Given the description of an element on the screen output the (x, y) to click on. 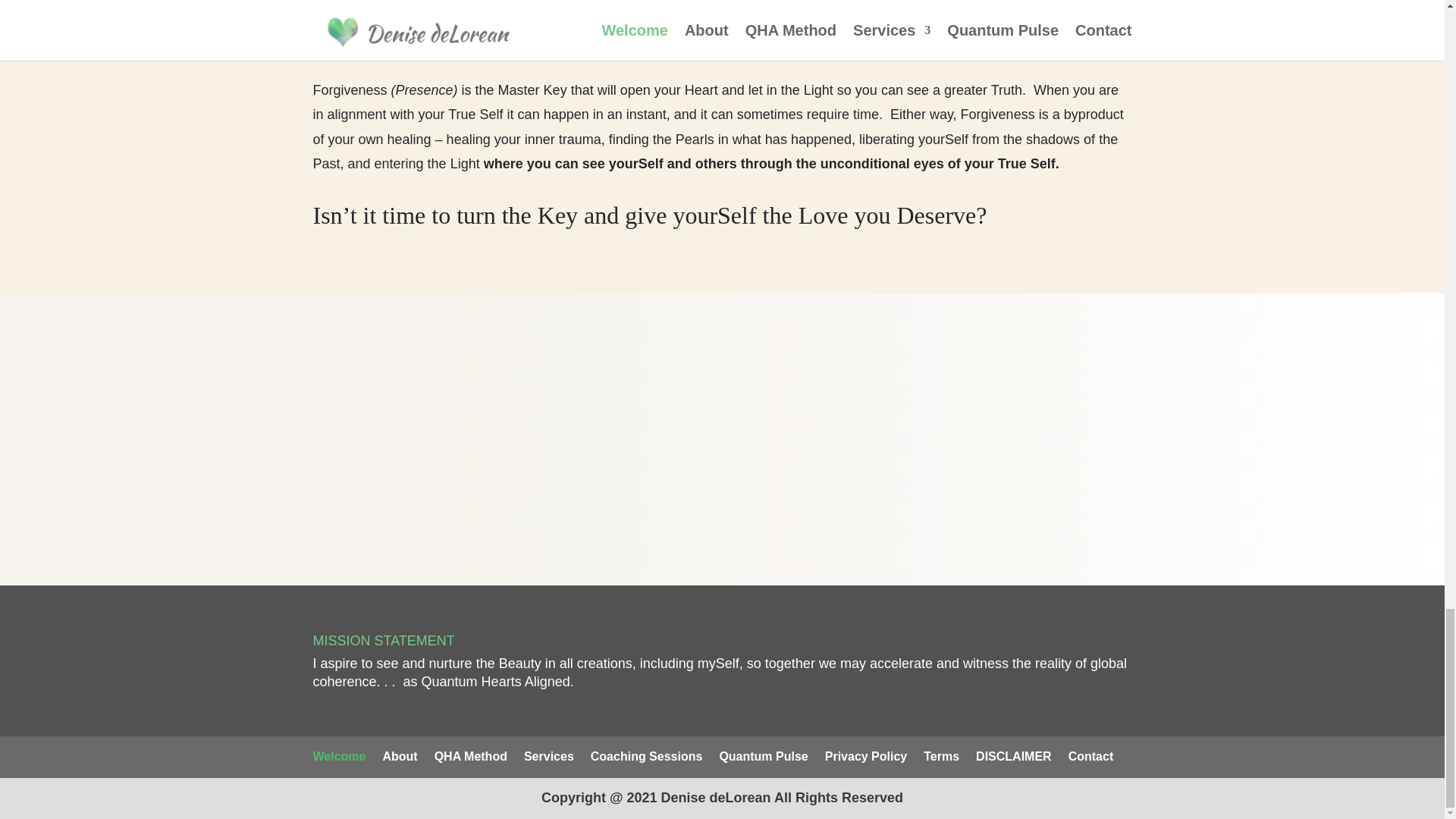
Quantum Pulse (763, 756)
About (398, 756)
Privacy Policy (866, 756)
DISCLAIMER (1013, 756)
QHA Method (469, 756)
Terms (941, 756)
Services (548, 756)
Contact (1090, 756)
Coaching Sessions (647, 756)
Welcome (339, 756)
